Given the description of an element on the screen output the (x, y) to click on. 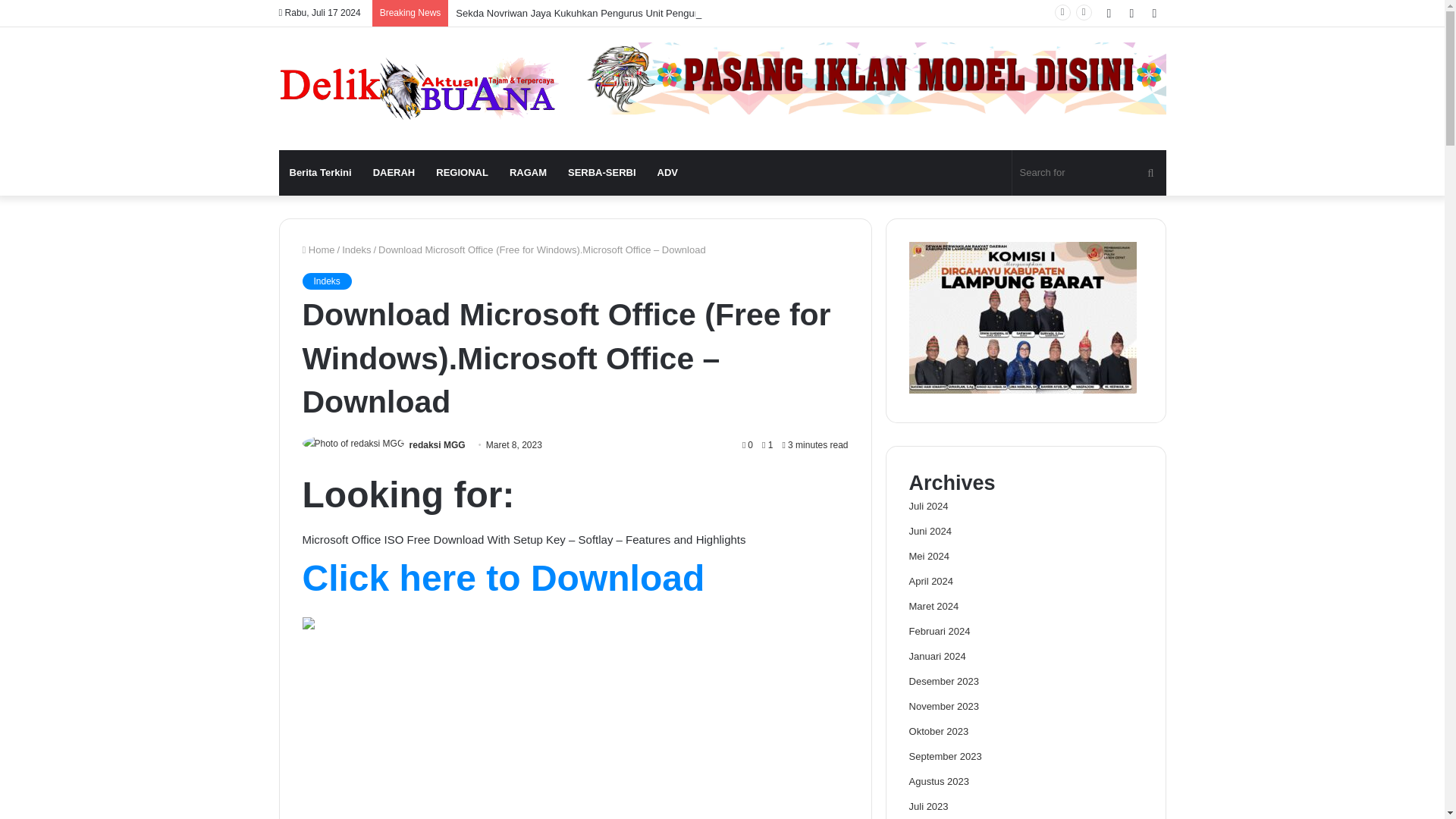
Delik Buana (419, 88)
Search for (1088, 172)
SERBA-SERBI (601, 172)
ADV (667, 172)
redaksi MGG (437, 444)
Home (317, 249)
Search for (1150, 172)
Berita Terkini (320, 172)
Indeks (356, 249)
Sidebar (1154, 13)
REGIONAL (462, 172)
redaksi MGG (437, 444)
Random Article (1131, 13)
Random Article (1131, 13)
